Given the description of an element on the screen output the (x, y) to click on. 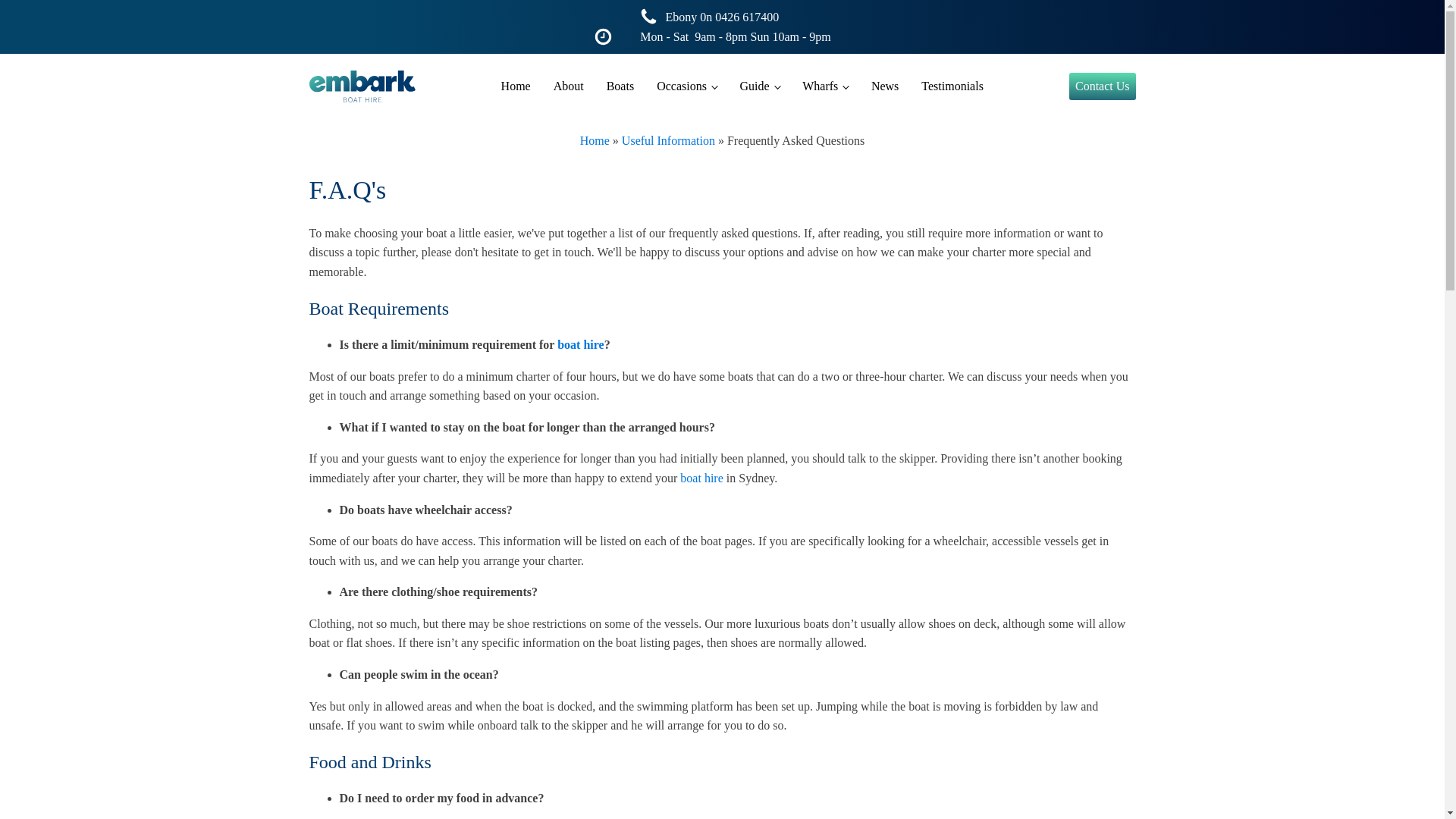
Testimonials Element type: text (952, 86)
boat hire Element type: text (701, 477)
Wharfs Element type: text (824, 86)
boat hire Element type: text (580, 344)
Contact Us Element type: text (1102, 86)
Guide Element type: text (759, 86)
Useful Information Element type: text (668, 140)
Boats Element type: text (620, 86)
About Element type: text (568, 86)
Occasions Element type: text (686, 86)
Home Element type: text (515, 86)
Home Element type: text (594, 140)
News Element type: text (884, 86)
